Given the description of an element on the screen output the (x, y) to click on. 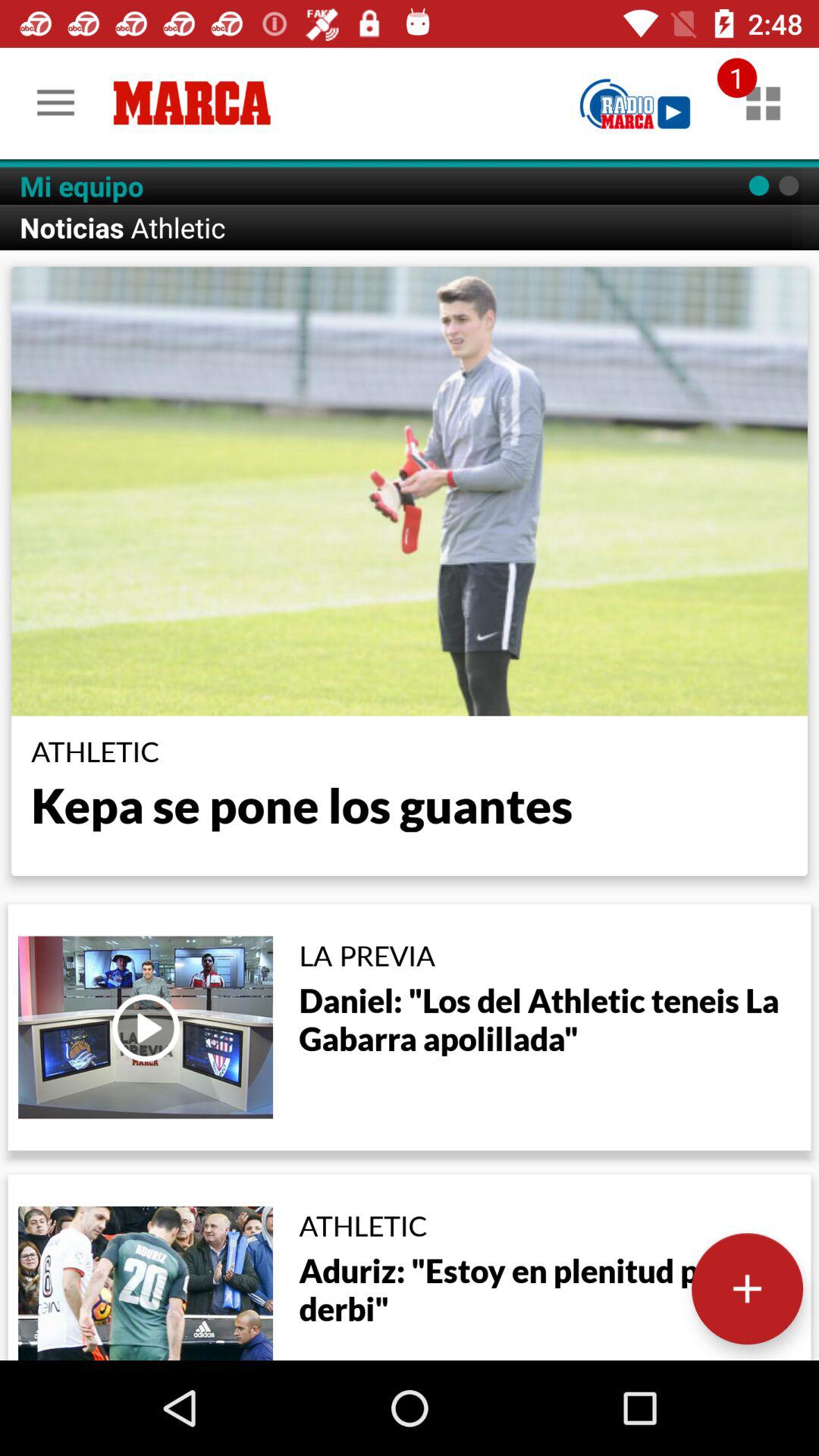
radio play option (635, 103)
